Given the description of an element on the screen output the (x, y) to click on. 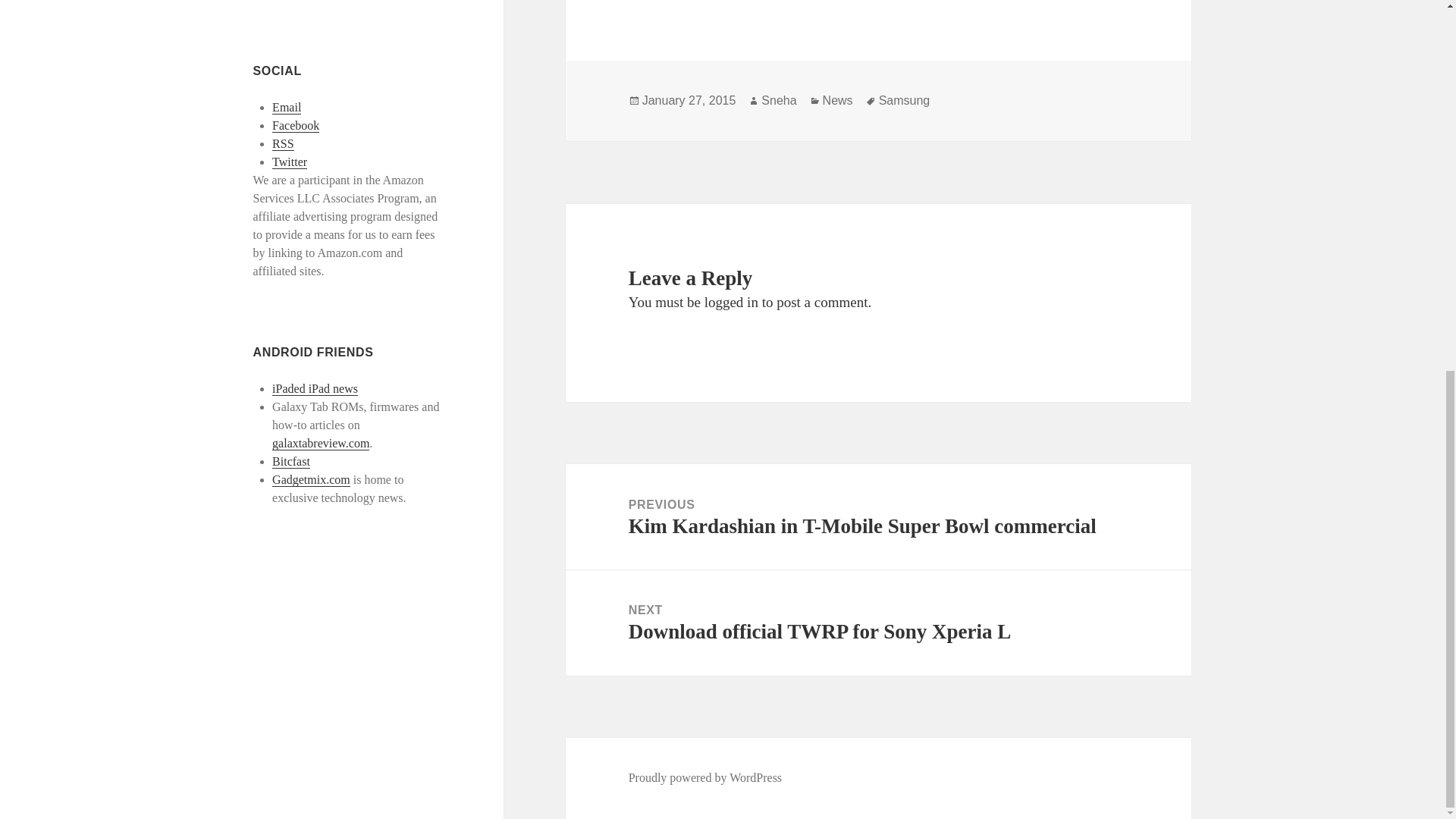
Twitter (289, 161)
January 27, 2015 (689, 100)
Gadgetmix.com (311, 479)
Email (286, 107)
iPaded iPad news (315, 387)
logged in (731, 302)
Email (286, 107)
Bitcfast (291, 460)
RSS (283, 143)
galaxtabreview.com (320, 442)
Twitter (289, 161)
News (837, 100)
Facebook (295, 125)
Facebook (295, 125)
